Given the description of an element on the screen output the (x, y) to click on. 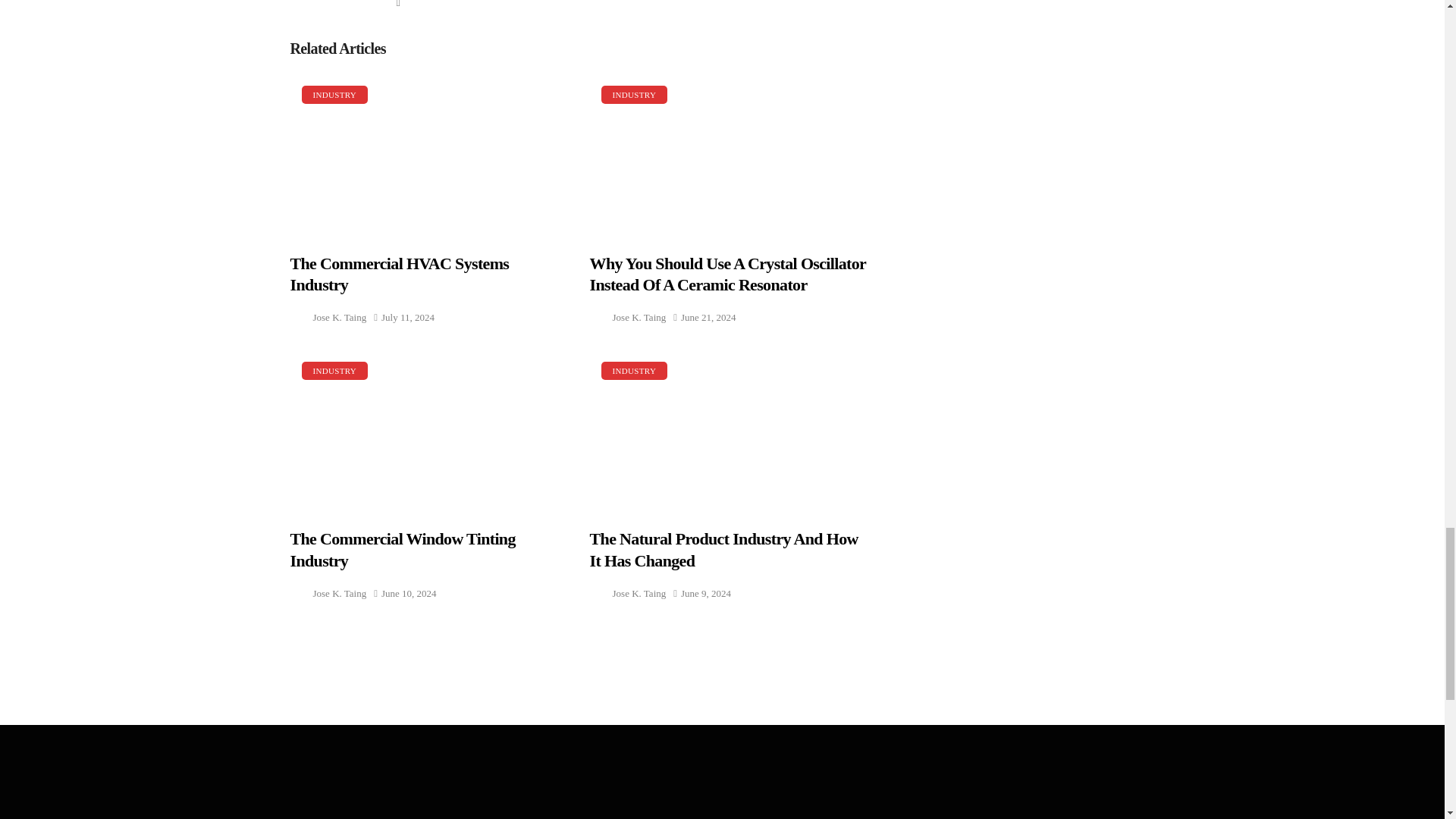
Posts by Jose K. Taing (339, 316)
Posts by Jose K. Taing (639, 316)
The Commercial HVAC Systems Industry (427, 154)
The Commercial Window Tinting Industry (427, 430)
